Given the description of an element on the screen output the (x, y) to click on. 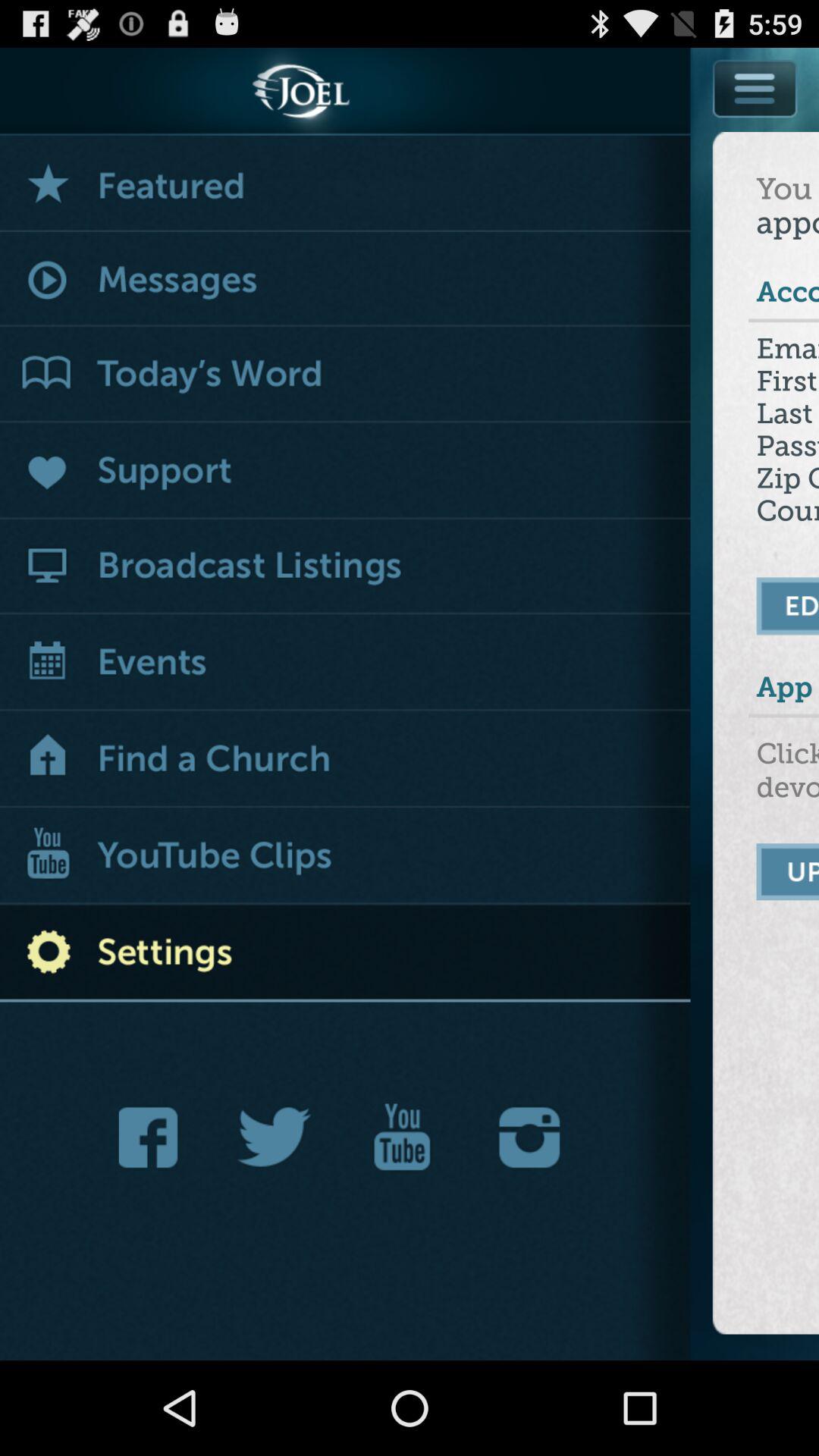
view and share joel related videos (401, 1137)
